Given the description of an element on the screen output the (x, y) to click on. 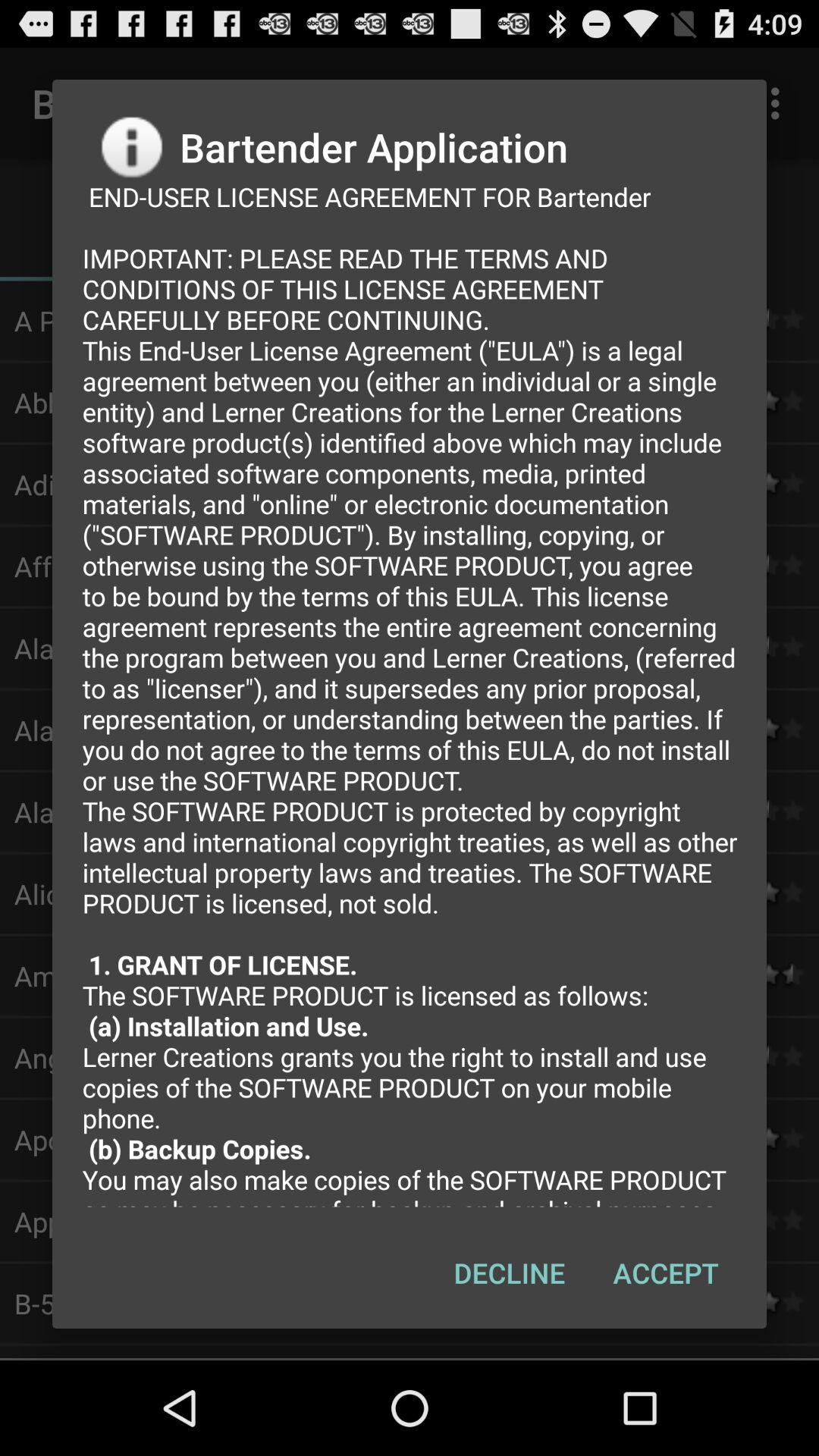
open the icon below end user license (509, 1272)
